Given the description of an element on the screen output the (x, y) to click on. 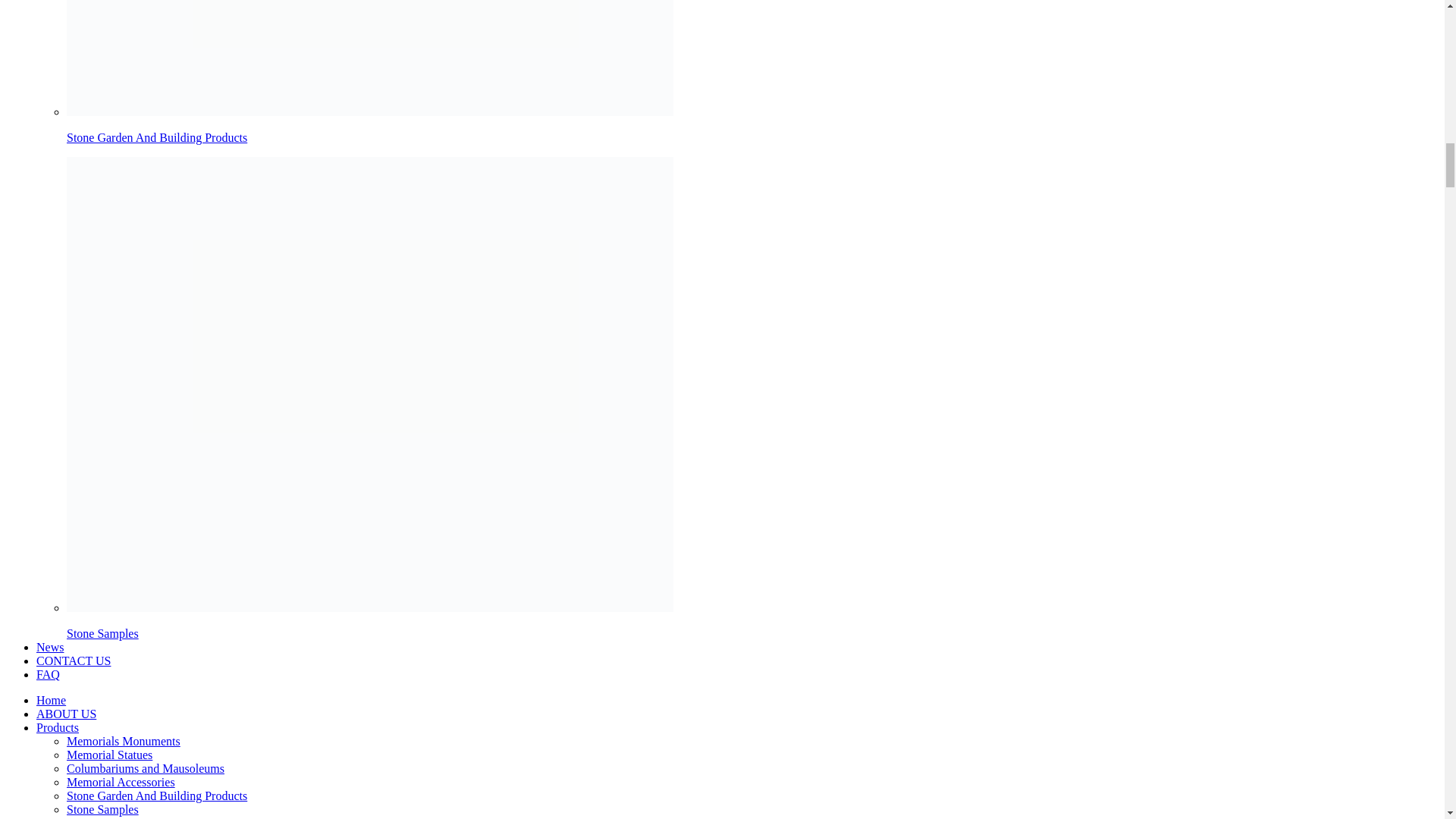
CONTACT US (73, 660)
Memorials Monuments (123, 740)
Memorial Statues (109, 754)
Home (50, 699)
Products (57, 727)
Stone Samples (102, 633)
Stone Samples (102, 809)
Memorial Accessories (120, 781)
Stone Garden And Building Products (156, 137)
News (50, 646)
